Given the description of an element on the screen output the (x, y) to click on. 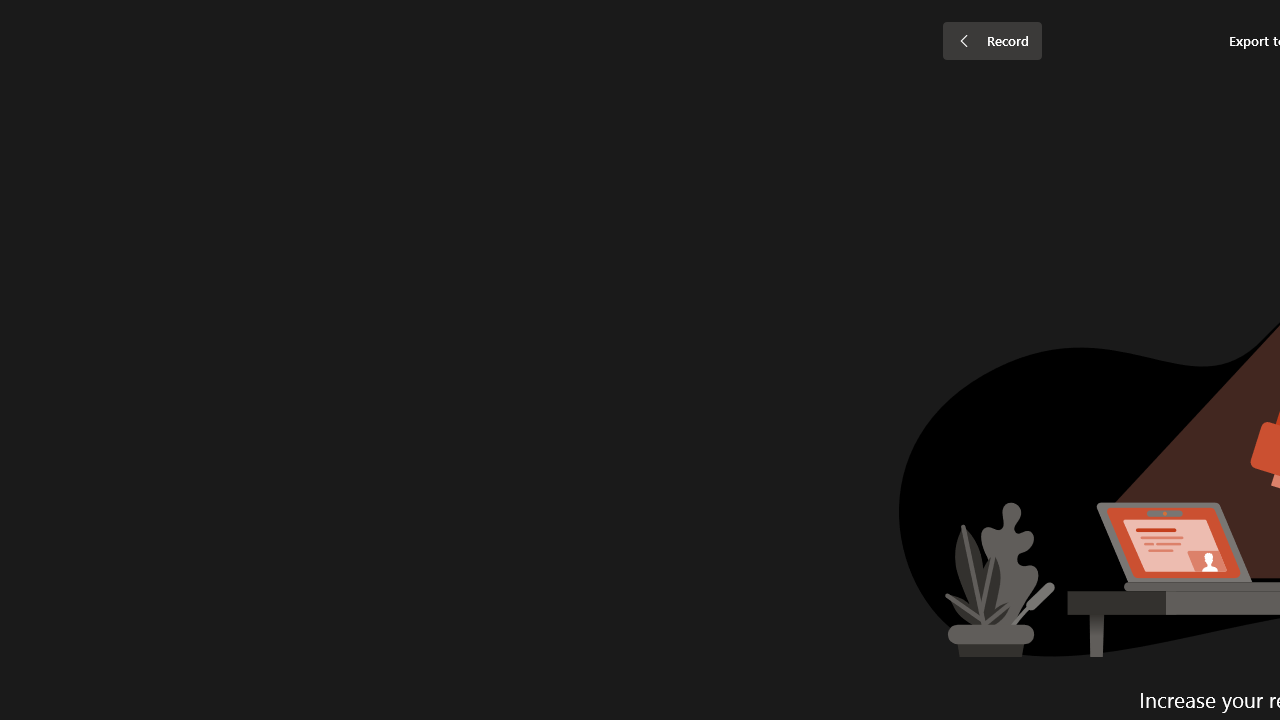
From Current Slide... (224, 102)
Export to Video (585, 102)
